Given the description of an element on the screen output the (x, y) to click on. 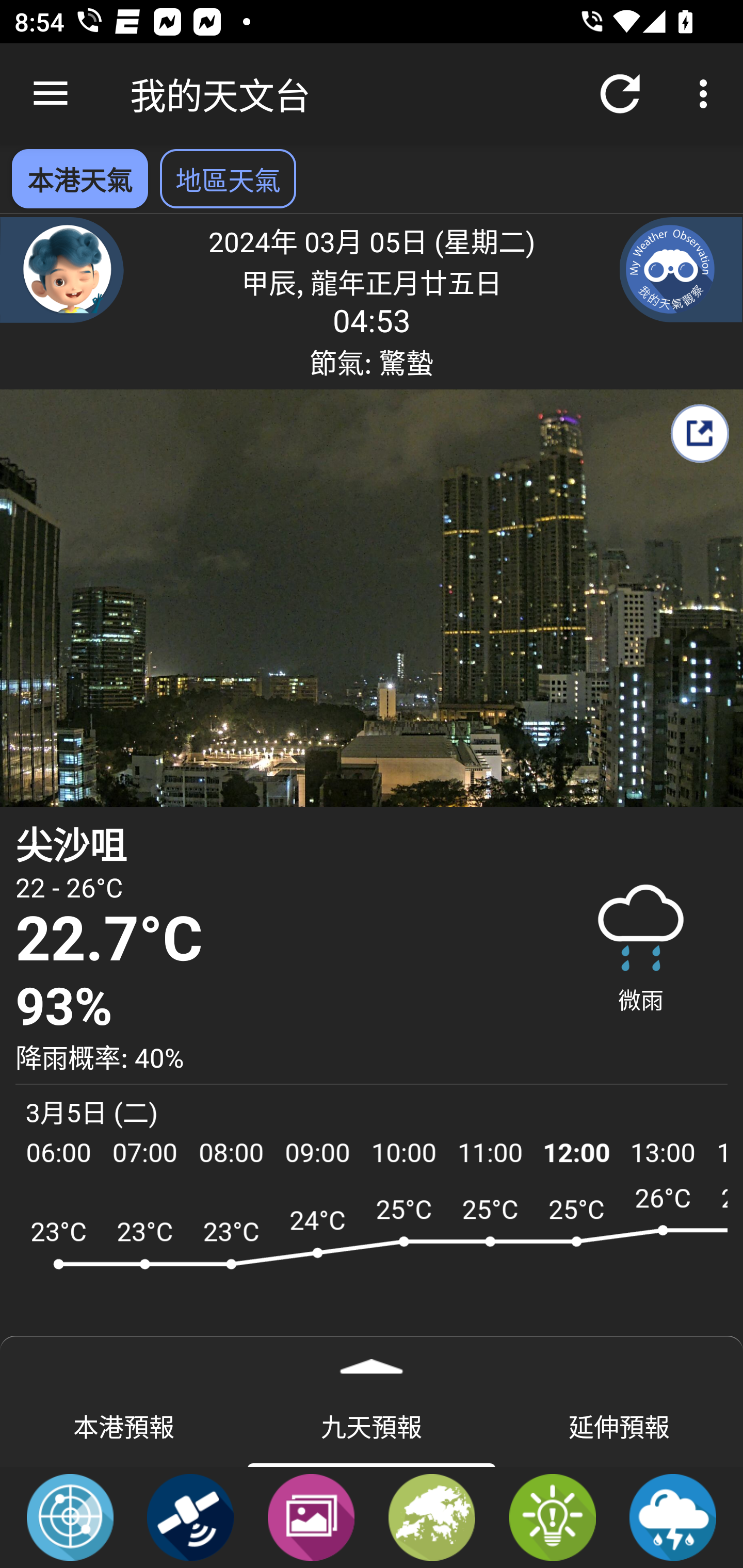
向上瀏覽 (50, 93)
重新整理 (619, 93)
更多選項 (706, 93)
本港天氣 已選擇 本港天氣 (79, 178)
地區天氣 選擇 地區天氣 (227, 178)
聊天機械人 (62, 269)
我的天氣觀察 (680, 269)
分享我的天氣報告 (699, 433)
22.7°C 氣溫22.7攝氏度 (276, 939)
93% 相對濕度百分之93 (276, 1007)
九天自動天氣預報 圖片
輕按進入內頁，即可了解詳細資料。 ARWF (371, 1275)
展開 (371, 1358)
本港預報 (123, 1424)
延伸預報 (619, 1424)
雷達圖像 (69, 1516)
衛星圖像 (190, 1516)
天氣照片 (310, 1516)
分區天氣 (431, 1516)
天氣提示 (551, 1516)
定點降雨及閃電預報 (672, 1516)
